Given the description of an element on the screen output the (x, y) to click on. 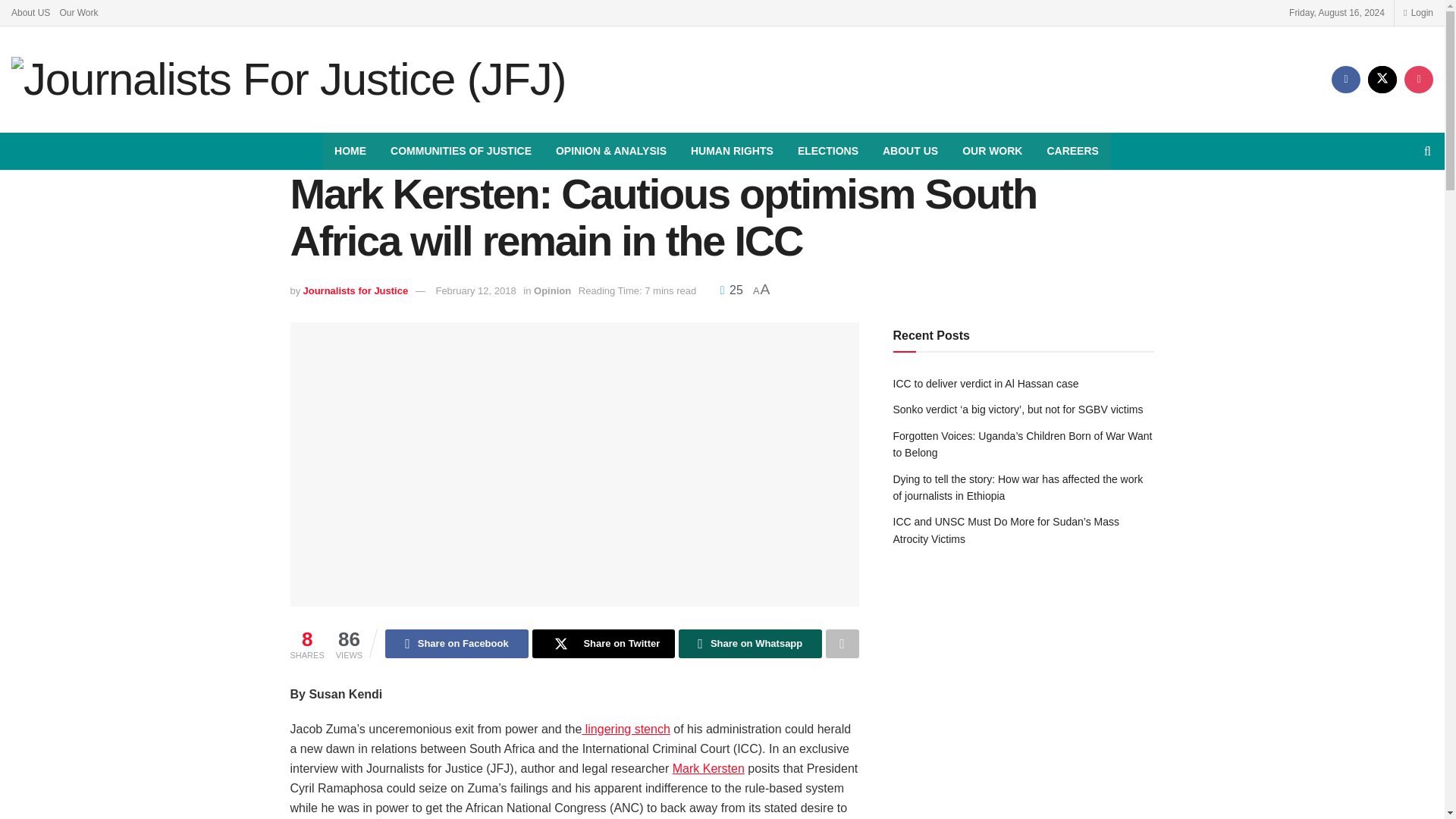
February 12, 2018 (475, 290)
ABOUT US (910, 150)
CAREERS (1071, 150)
Journalists for Justice (354, 290)
Our Work (78, 12)
About US (30, 12)
COMMUNITIES OF JUSTICE (460, 150)
ELECTIONS (828, 150)
Login (1417, 12)
Share on Facebook (456, 643)
